Given the description of an element on the screen output the (x, y) to click on. 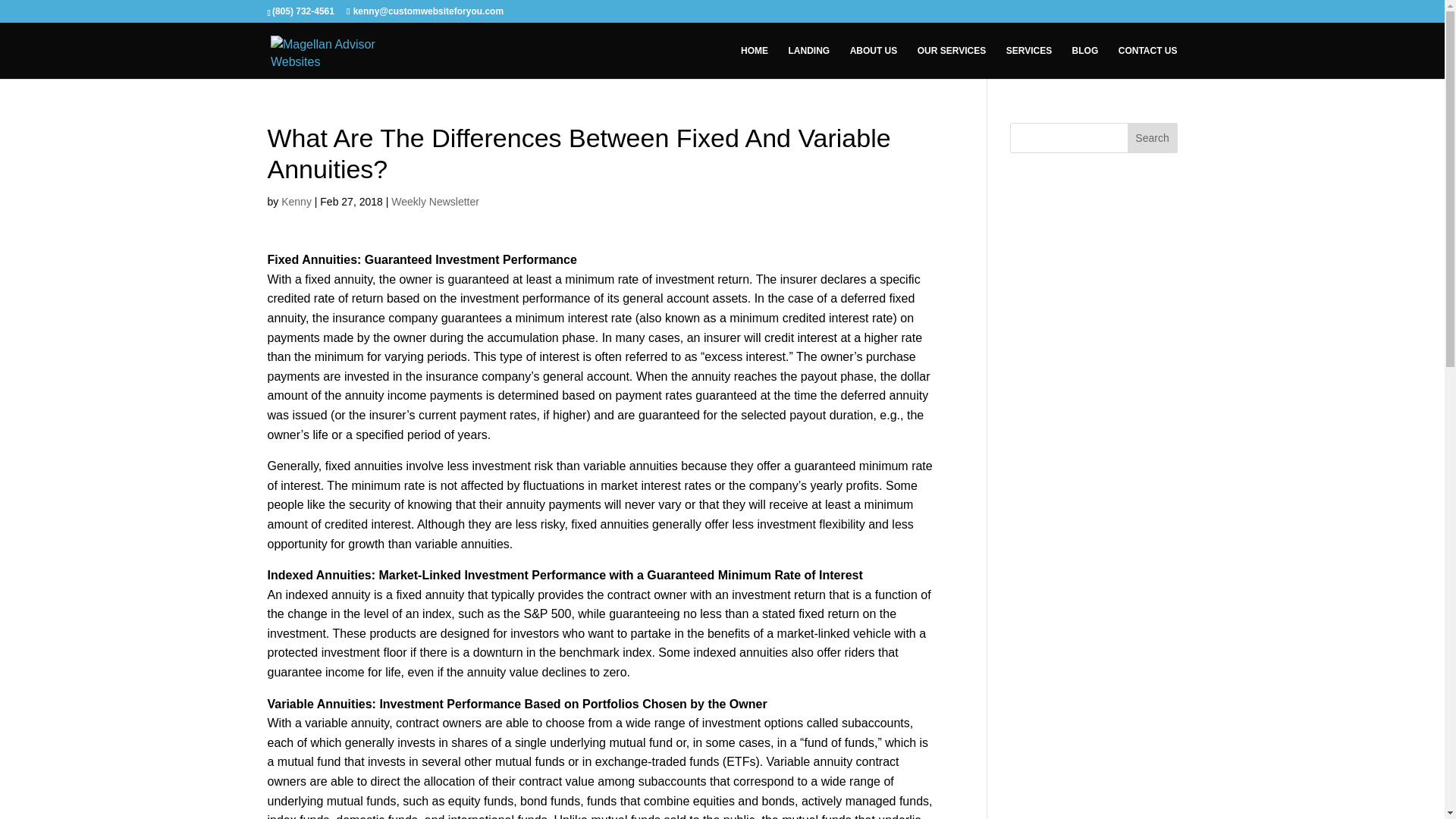
Kenny (296, 201)
CONTACT US (1147, 61)
LANDING (809, 61)
Posts by Kenny (296, 201)
OUR SERVICES (951, 61)
SERVICES (1028, 61)
Search (1151, 137)
Weekly Newsletter (435, 201)
ABOUT US (874, 61)
Search (1151, 137)
